Given the description of an element on the screen output the (x, y) to click on. 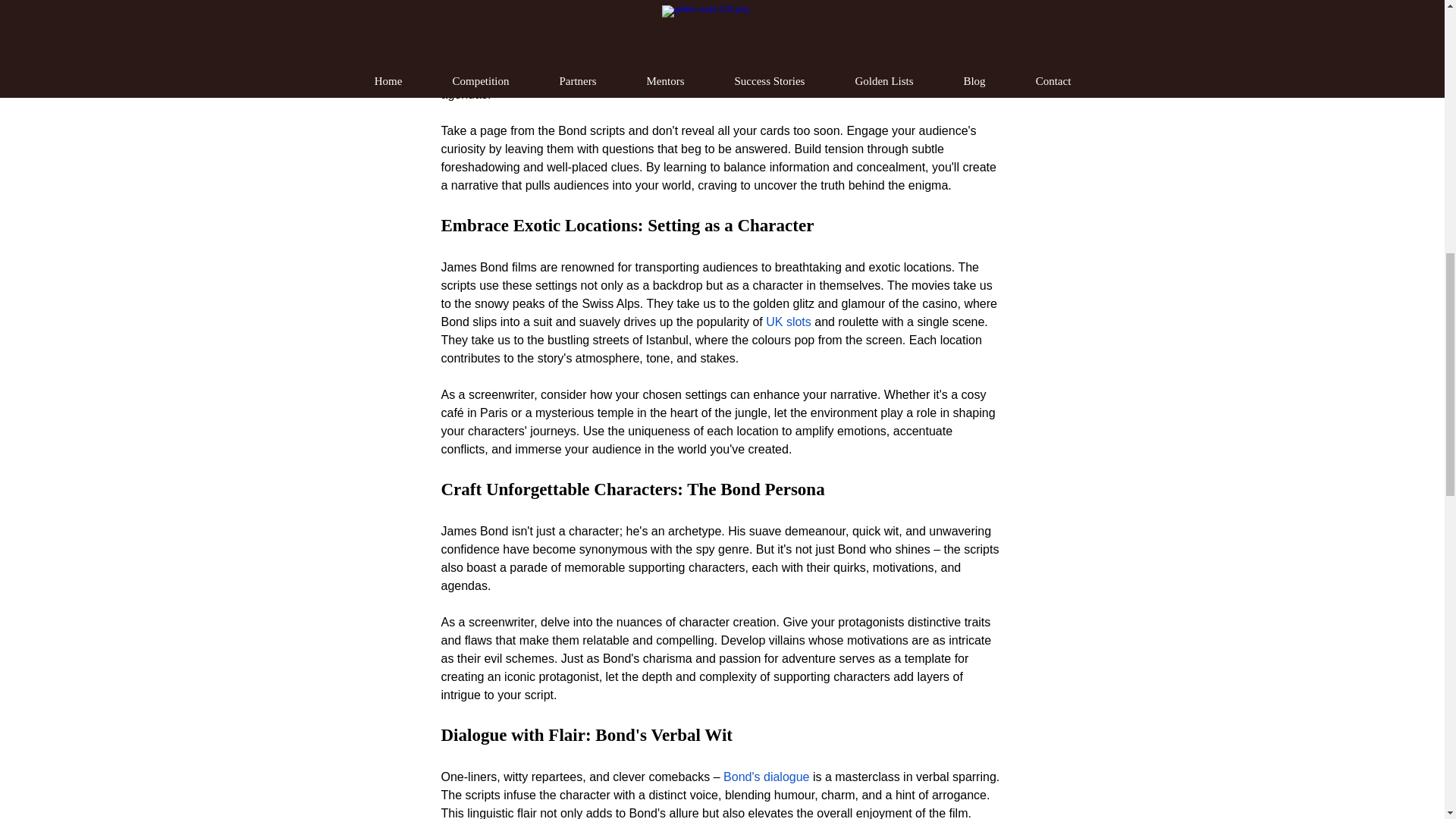
UK slots (787, 321)
Bond's dialogue (766, 776)
every James Bond film (581, 21)
